Given the description of an element on the screen output the (x, y) to click on. 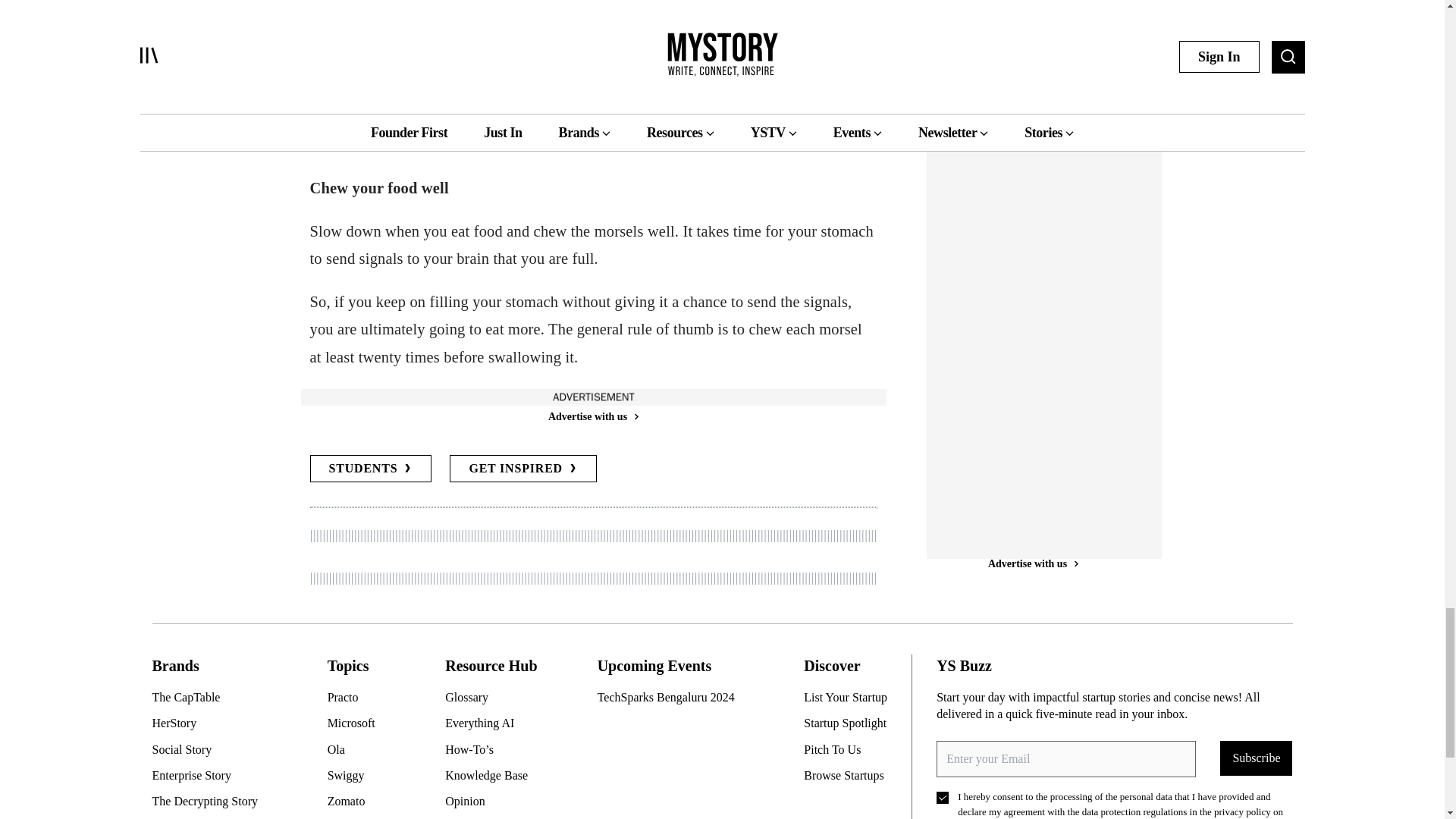
GET INSPIRED (522, 468)
HerStory (210, 723)
STUDENTS (369, 468)
Enterprise Story (210, 775)
Advertise with us (592, 416)
The CapTable (210, 697)
Social Story (210, 750)
